Given the description of an element on the screen output the (x, y) to click on. 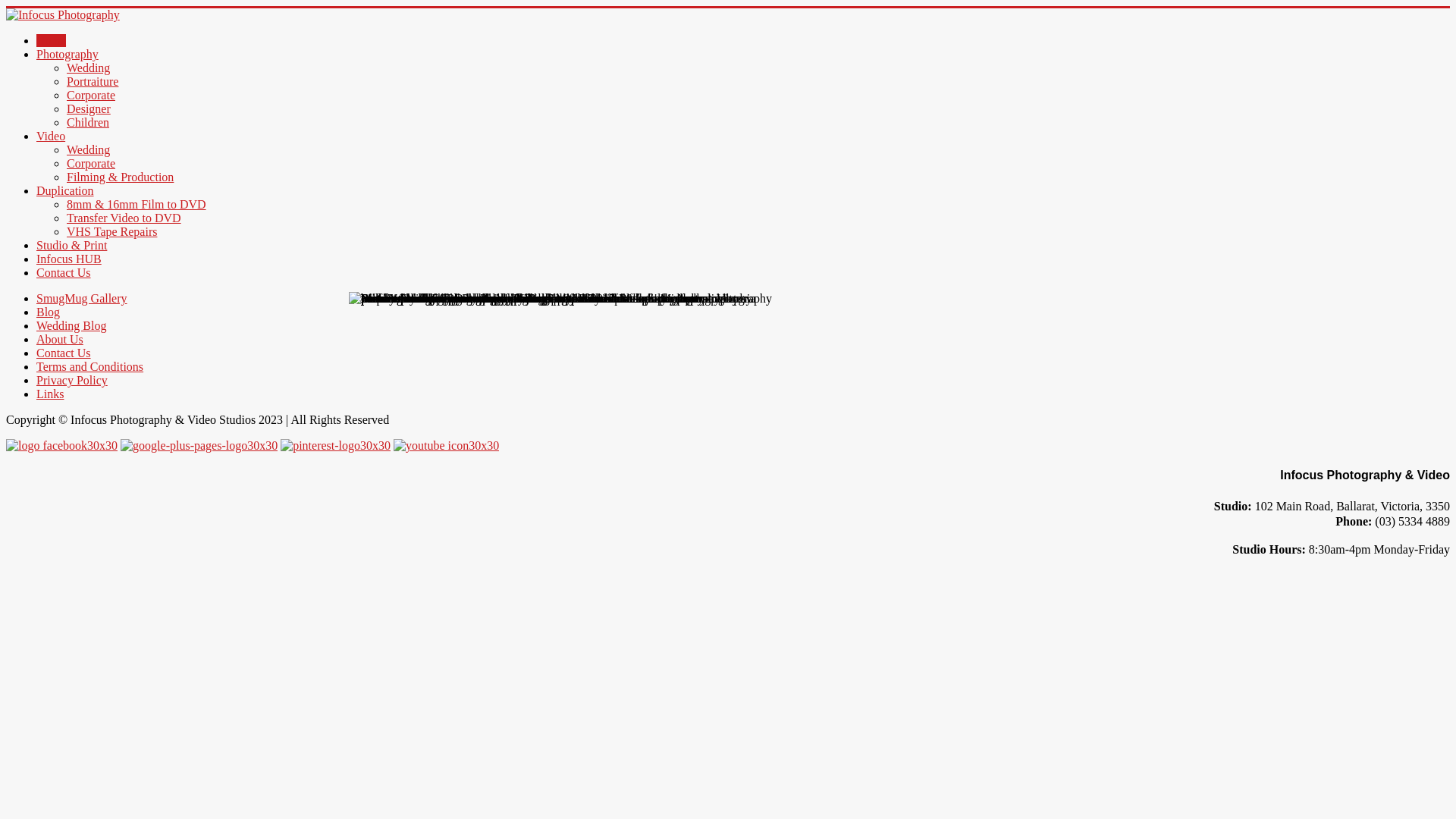
Wedding Element type: text (87, 67)
Wedding Element type: text (87, 149)
Privacy Policy Element type: text (71, 379)
Blog Element type: text (47, 311)
VHS Tape Repairs Element type: text (111, 231)
Video Element type: text (50, 135)
Contact Us Element type: text (63, 272)
Designer Element type: text (88, 108)
Links Element type: text (49, 393)
SmugMug Gallery Element type: text (81, 297)
Children Element type: text (87, 122)
Home Element type: text (50, 40)
Portraiture Element type: text (92, 81)
Wedding Blog Element type: text (71, 325)
Photography Element type: text (67, 53)
About Us Element type: text (59, 338)
Corporate Element type: text (90, 162)
Duplication Element type: text (65, 190)
Studio & Print Element type: text (71, 244)
Transfer Video to DVD Element type: text (123, 217)
8mm & 16mm Film to DVD Element type: text (136, 203)
Infocus HUB Element type: text (68, 258)
Contact Us Element type: text (63, 352)
Terms and Conditions Element type: text (89, 366)
Filming & Production Element type: text (119, 176)
Corporate Element type: text (90, 94)
YouTube Element type: hover (445, 445)
